Given the description of an element on the screen output the (x, y) to click on. 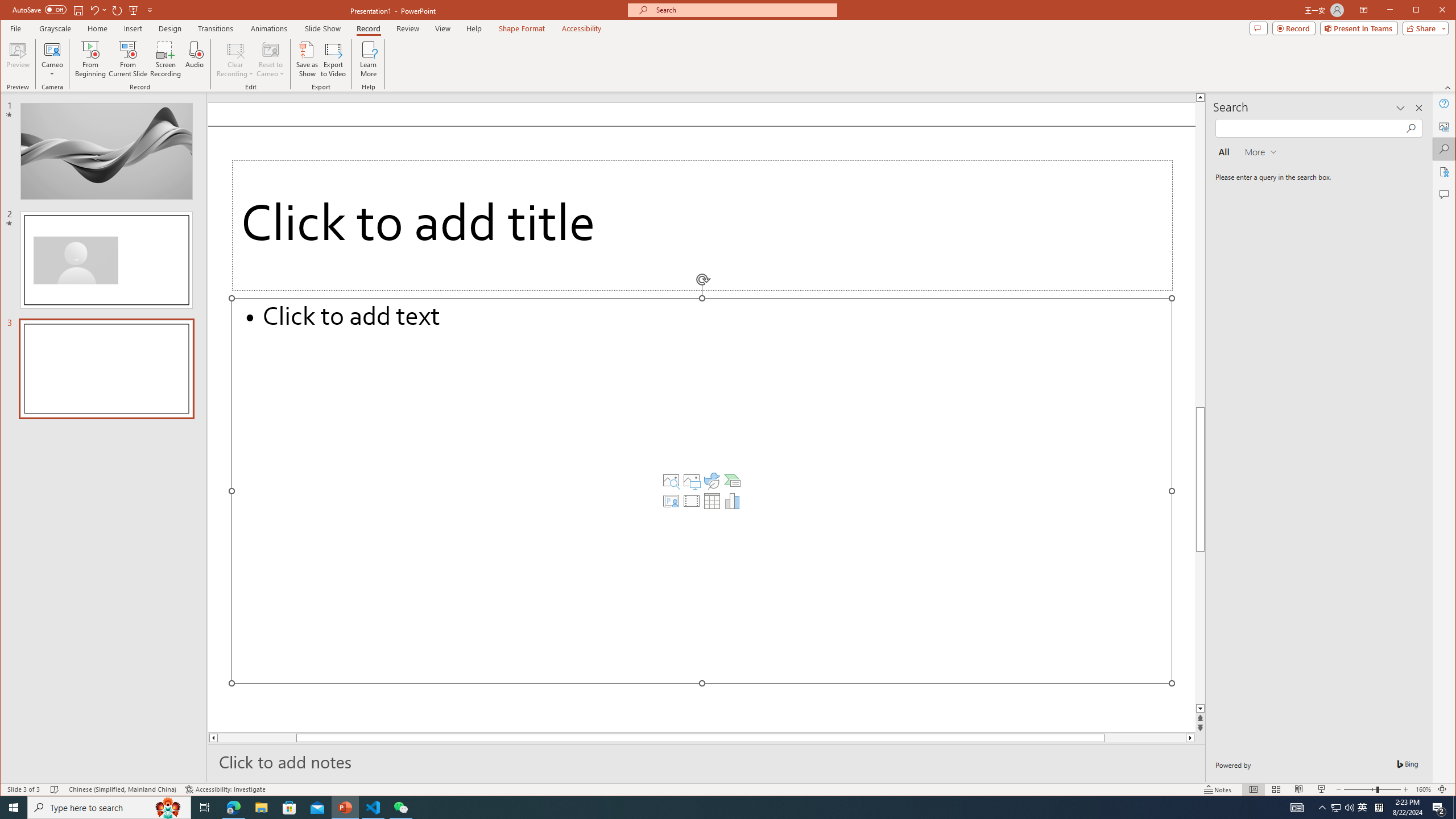
Reset to Cameo (269, 59)
Insert a SmartArt Graphic (732, 480)
Audio (194, 59)
Insert Chart (732, 501)
Insert Video (691, 501)
